Given the description of an element on the screen output the (x, y) to click on. 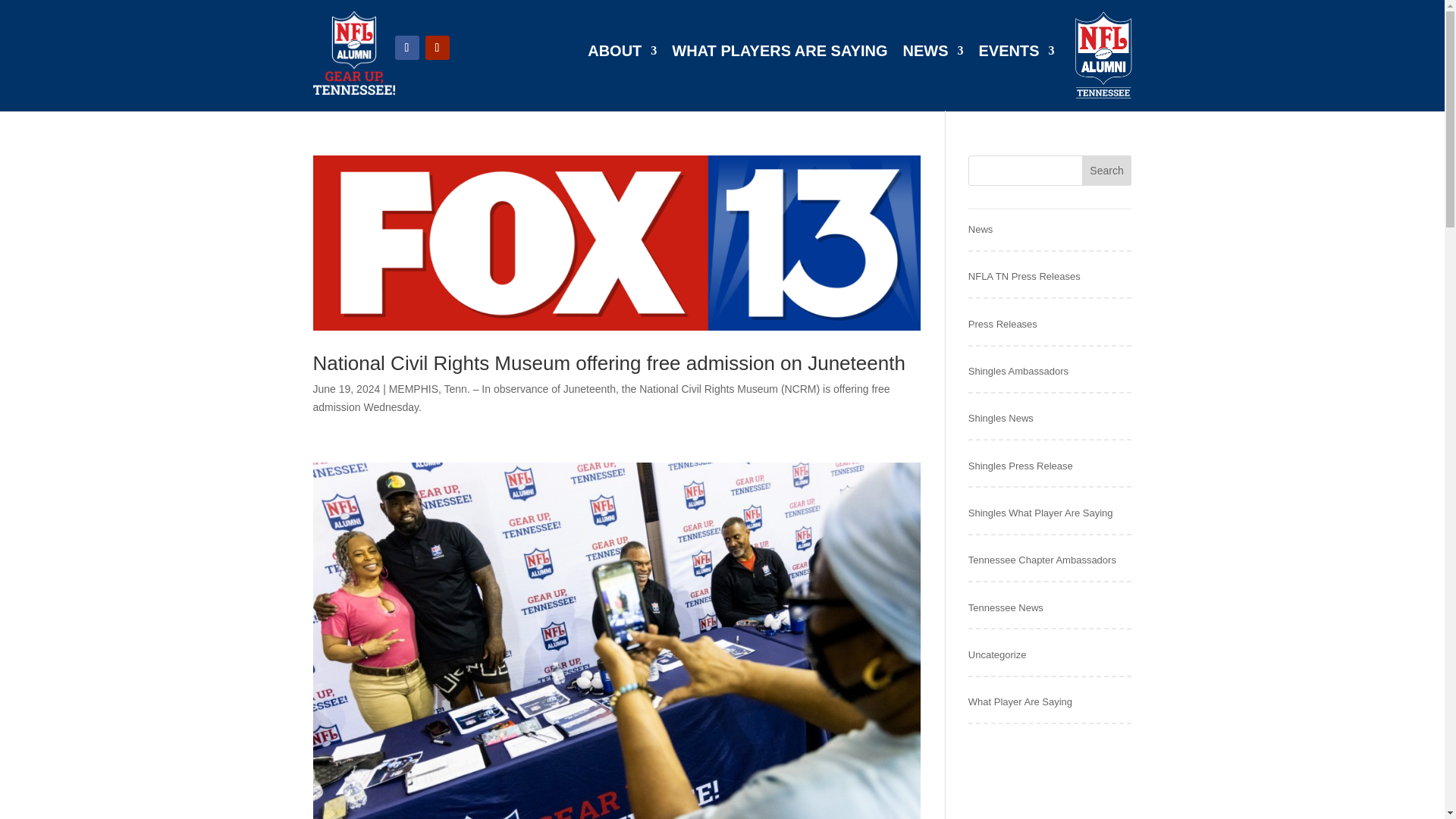
WHAT PLAYERS ARE SAYING (778, 53)
EVENTS (1016, 53)
ABOUT (622, 53)
Follow on Facebook (406, 47)
Search (1106, 170)
Follow on Youtube (436, 47)
nfla-tennessee-logo (353, 53)
NEWS (932, 53)
